Given the description of an element on the screen output the (x, y) to click on. 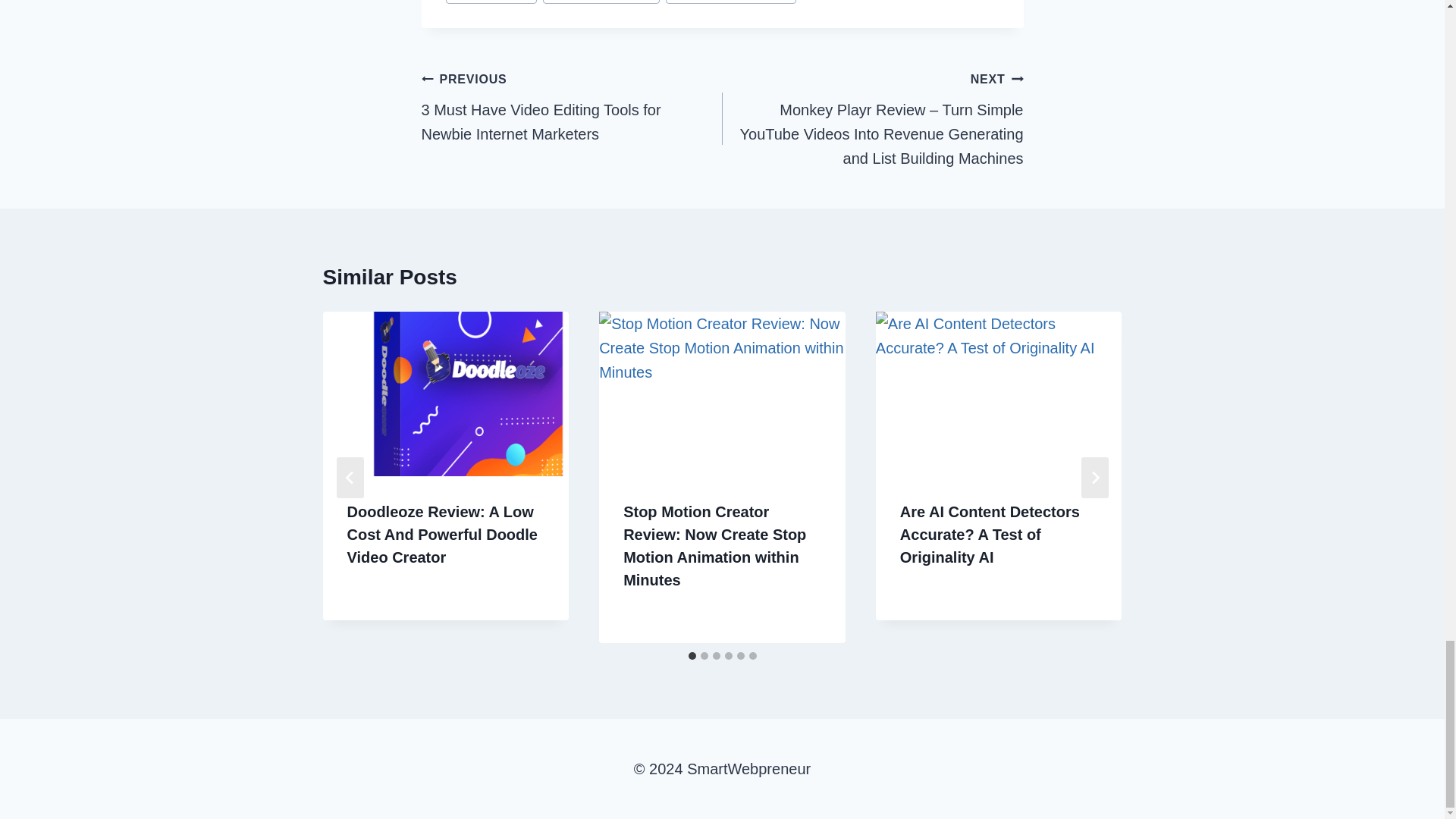
VideoBuilder cost (601, 2)
VideoBuilder review (729, 2)
Are AI Content Detectors Accurate? A Test of Originality AI (989, 534)
VideoBuilder (491, 2)
